Given the description of an element on the screen output the (x, y) to click on. 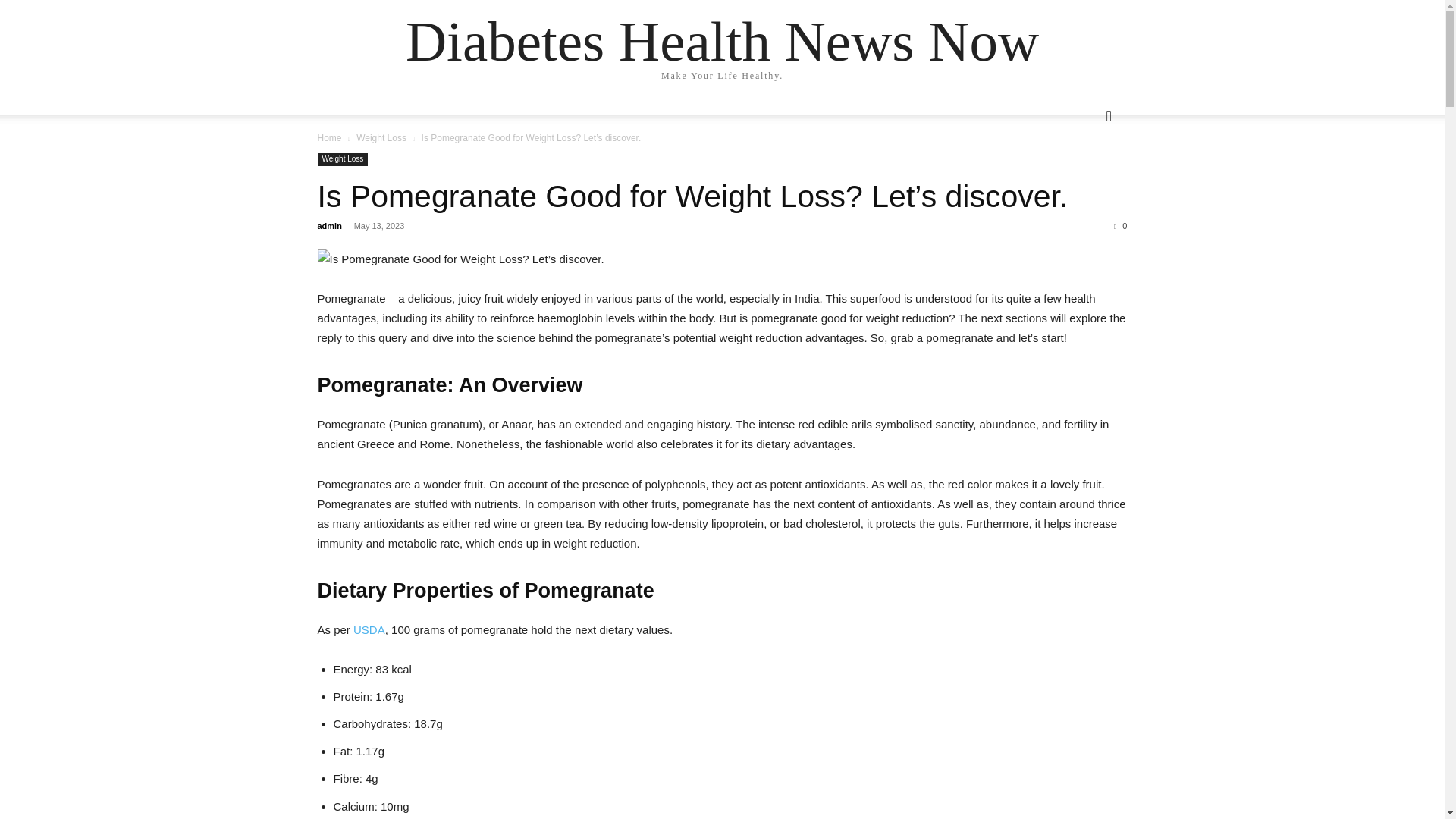
Weight Loss (342, 159)
admin (328, 225)
Diabetes Health News Now (722, 41)
Weight Loss (381, 137)
Search (1085, 177)
Home (328, 137)
0 (1119, 225)
View all posts in Weight Loss (381, 137)
USDA (369, 629)
